Given the description of an element on the screen output the (x, y) to click on. 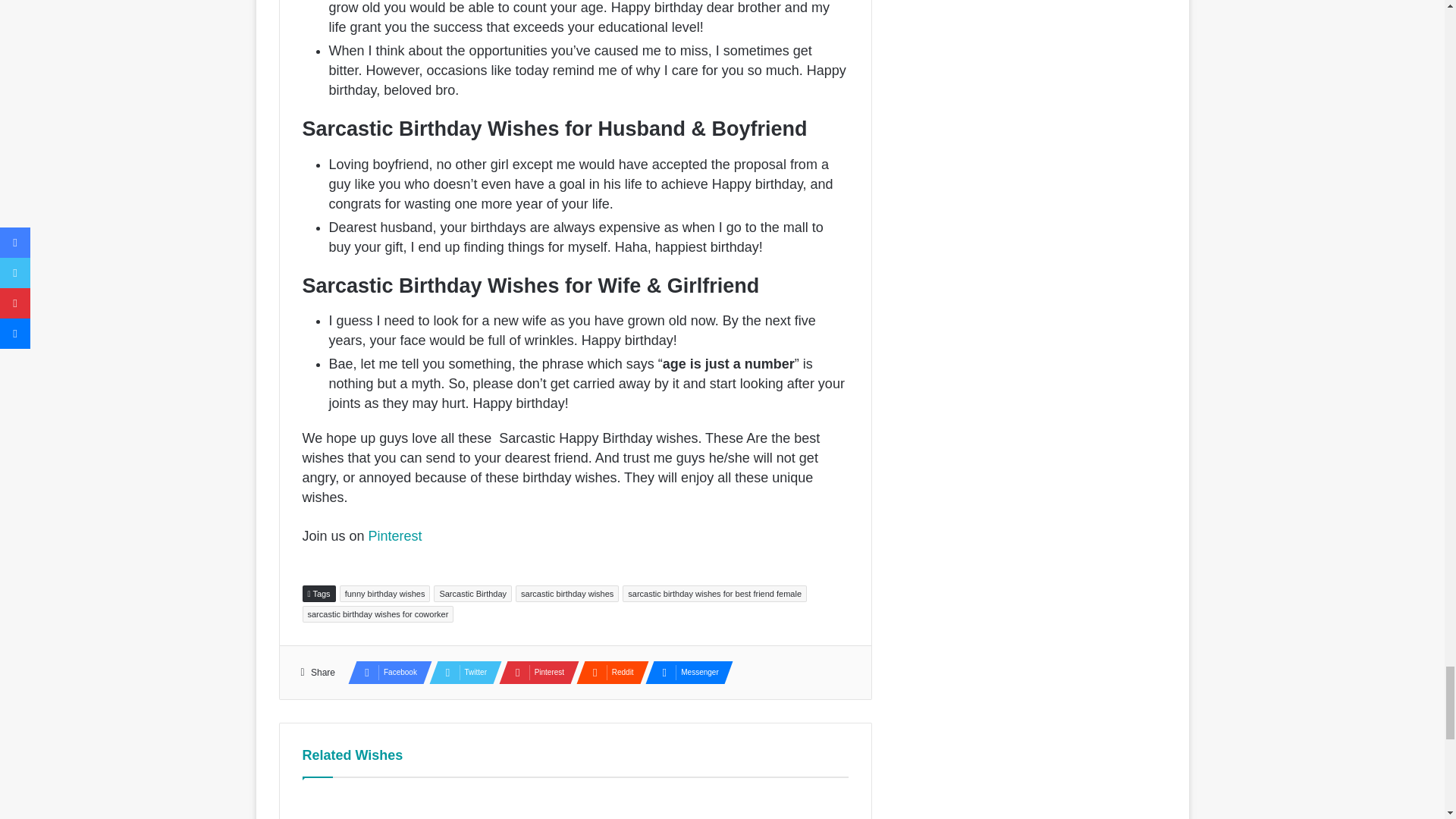
Pinterest (395, 535)
funny birthday wishes (384, 593)
